Given the description of an element on the screen output the (x, y) to click on. 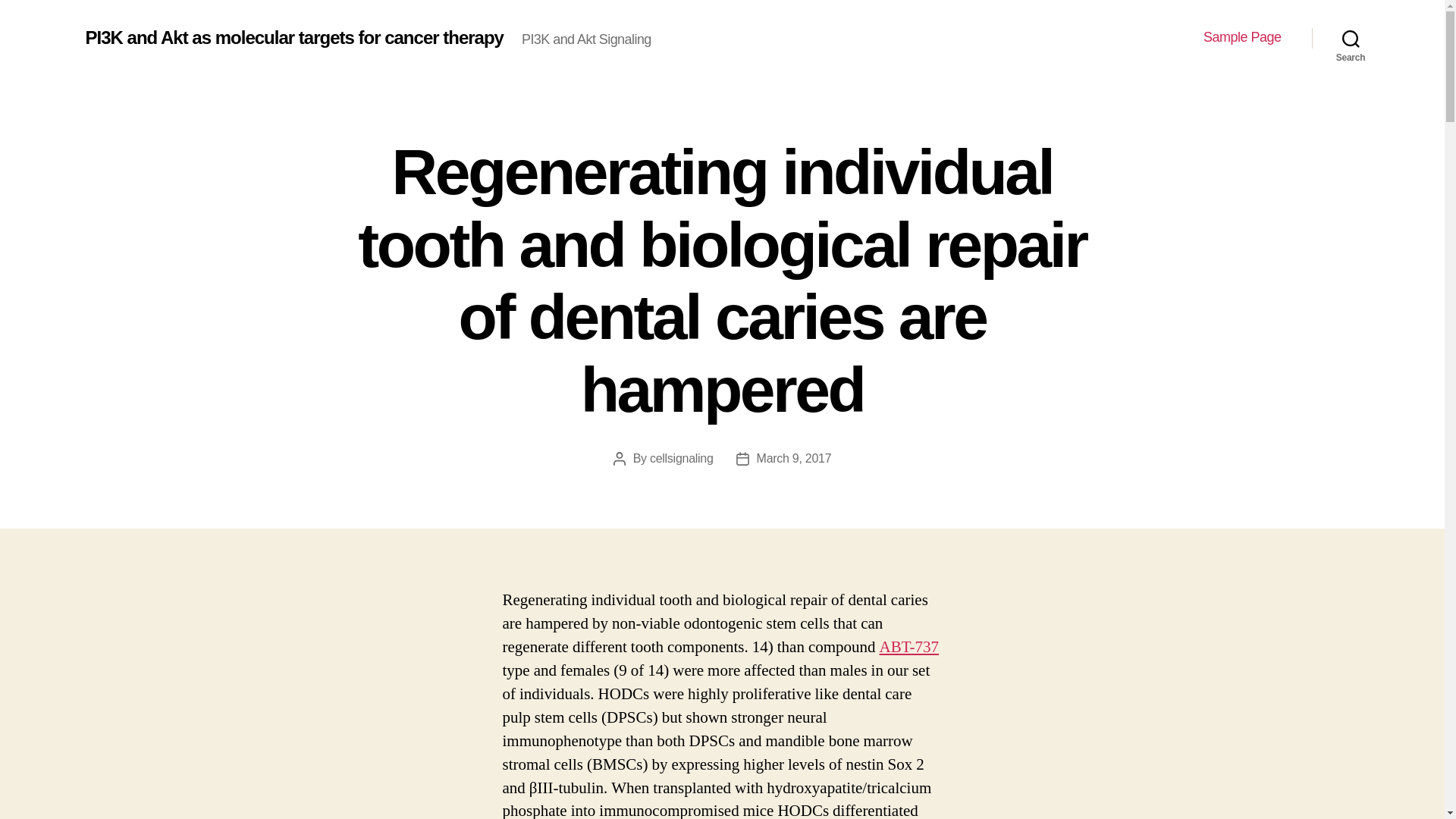
PI3K and Akt as molecular targets for cancer therapy (293, 37)
March 9, 2017 (794, 458)
Sample Page (1242, 37)
Search (1350, 37)
ABT-737 (909, 647)
cellsignaling (681, 458)
